Given the description of an element on the screen output the (x, y) to click on. 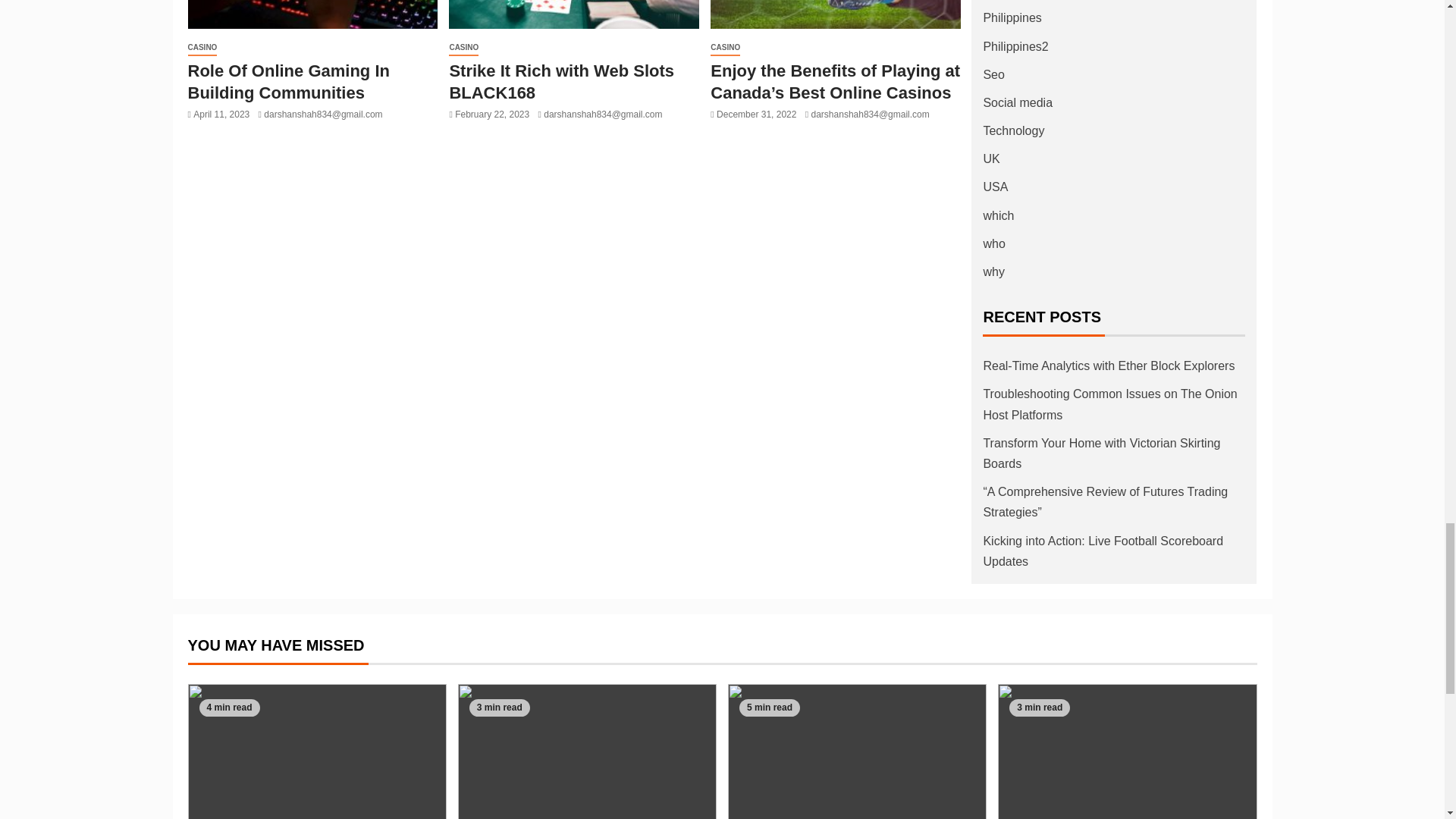
Role Of Online Gaming In Building Communities (288, 81)
CASINO (201, 48)
